Given the description of an element on the screen output the (x, y) to click on. 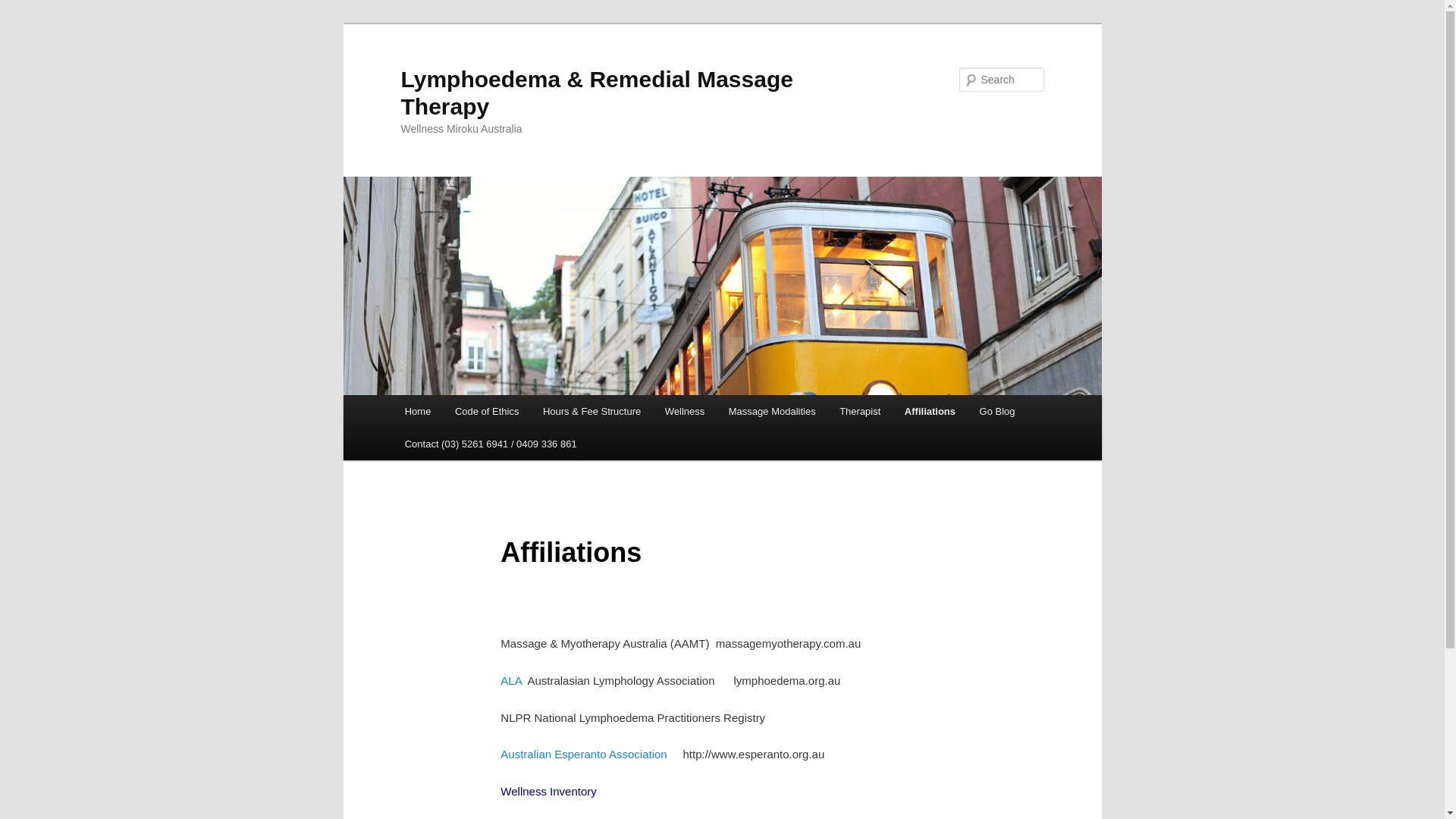
Contact (03) 5261 6941 / 0409 336 861 Element type: text (490, 443)
Therapist Element type: text (859, 411)
Home Element type: text (417, 411)
Skip to primary content Element type: text (414, 395)
Code of Ethics Element type: text (486, 411)
Go Blog Element type: text (996, 411)
Affiliations Element type: text (929, 411)
Search Element type: text (24, 8)
ALA Element type: text (510, 680)
Australian Esperanto Association Element type: text (583, 753)
Massage Modalities Element type: text (771, 411)
Hours & Fee Structure Element type: text (591, 411)
Wellness Element type: text (684, 411)
